Given the description of an element on the screen output the (x, y) to click on. 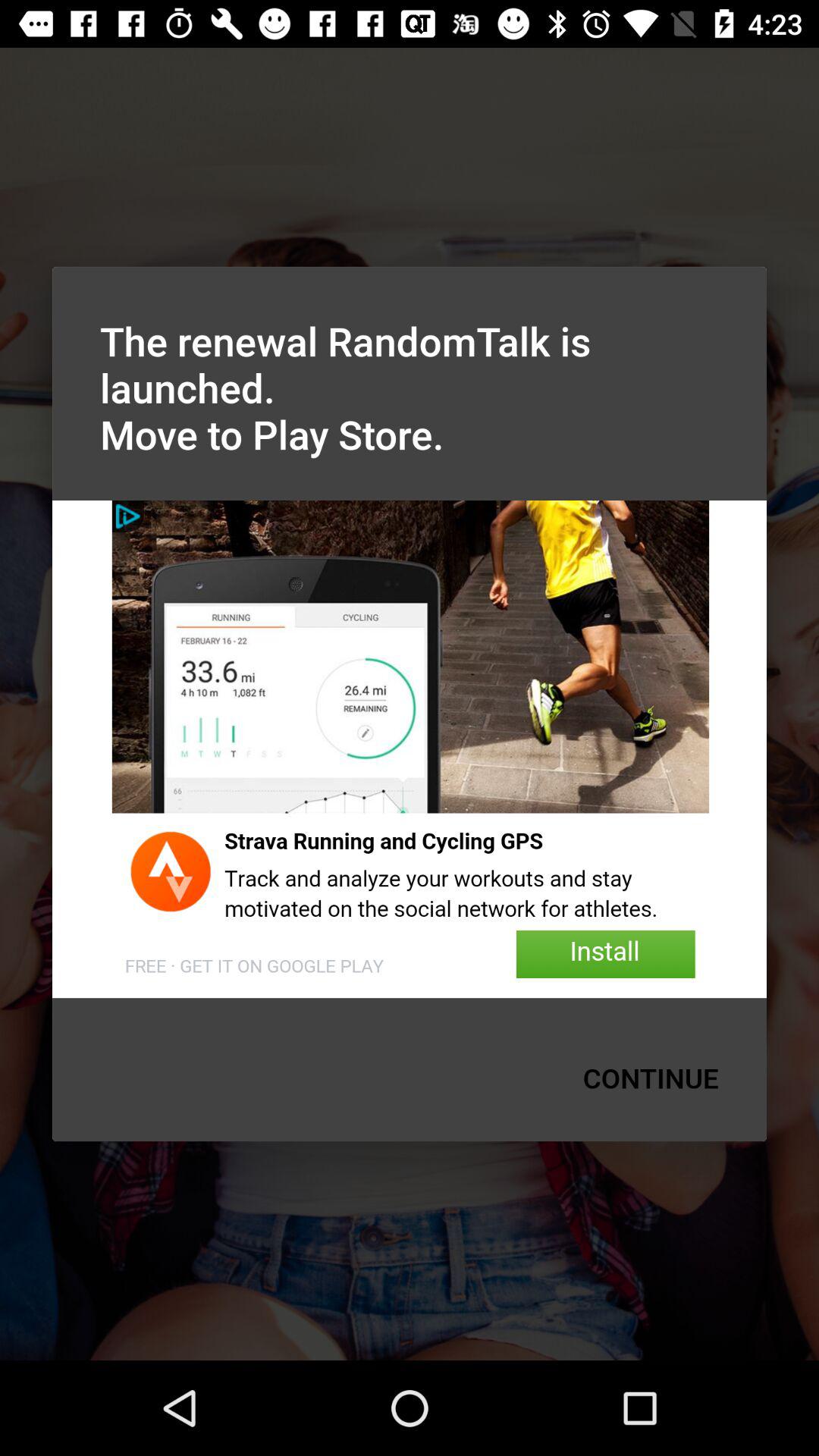
select to install (409, 749)
